Given the description of an element on the screen output the (x, y) to click on. 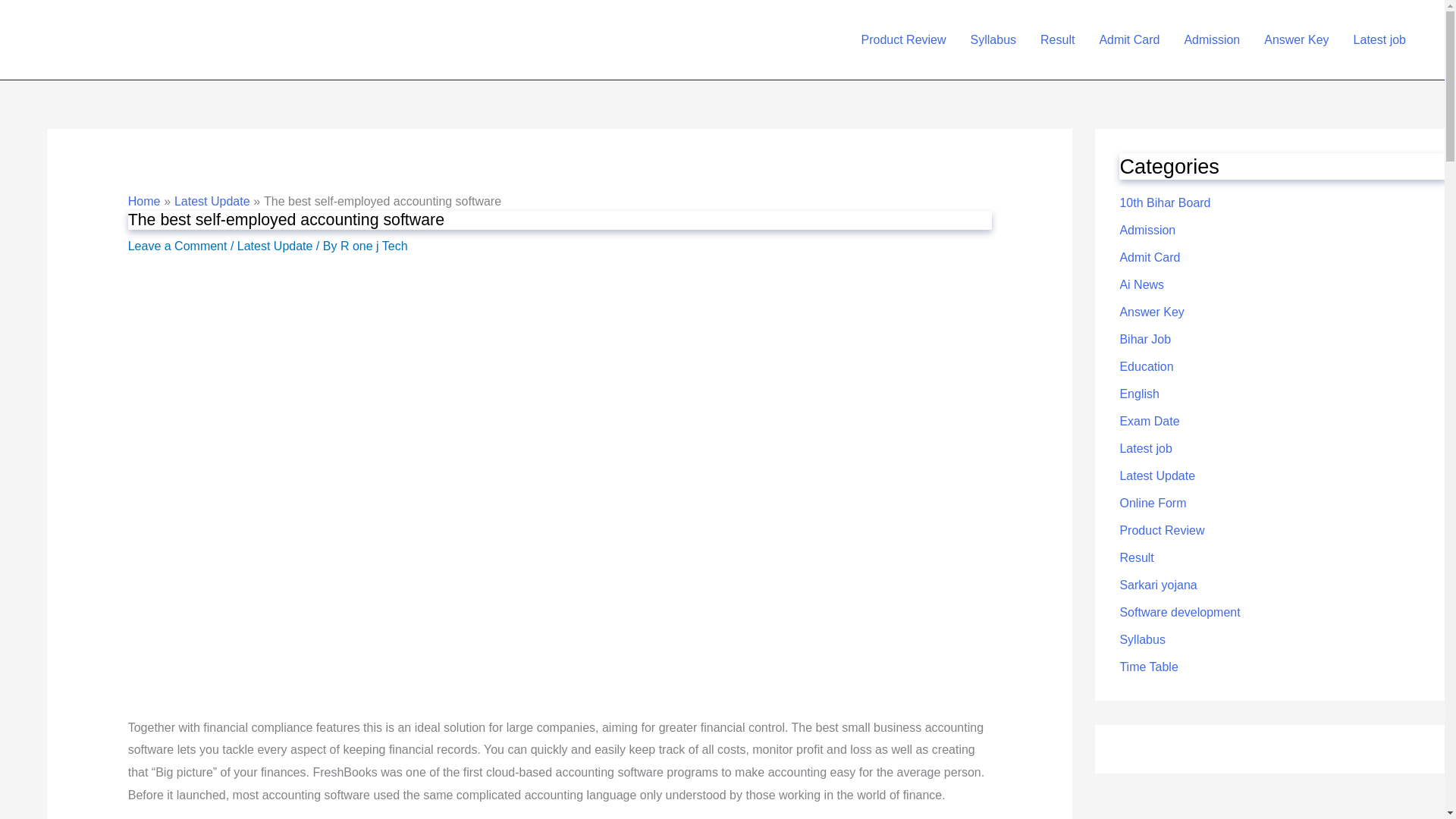
Admission (1212, 39)
Latest Update (275, 245)
View all posts by R one j Tech (373, 245)
Leave a Comment (177, 245)
R one j Tech (373, 245)
Admit Card (1129, 39)
Product Review (903, 39)
Result (1056, 39)
